Given the description of an element on the screen output the (x, y) to click on. 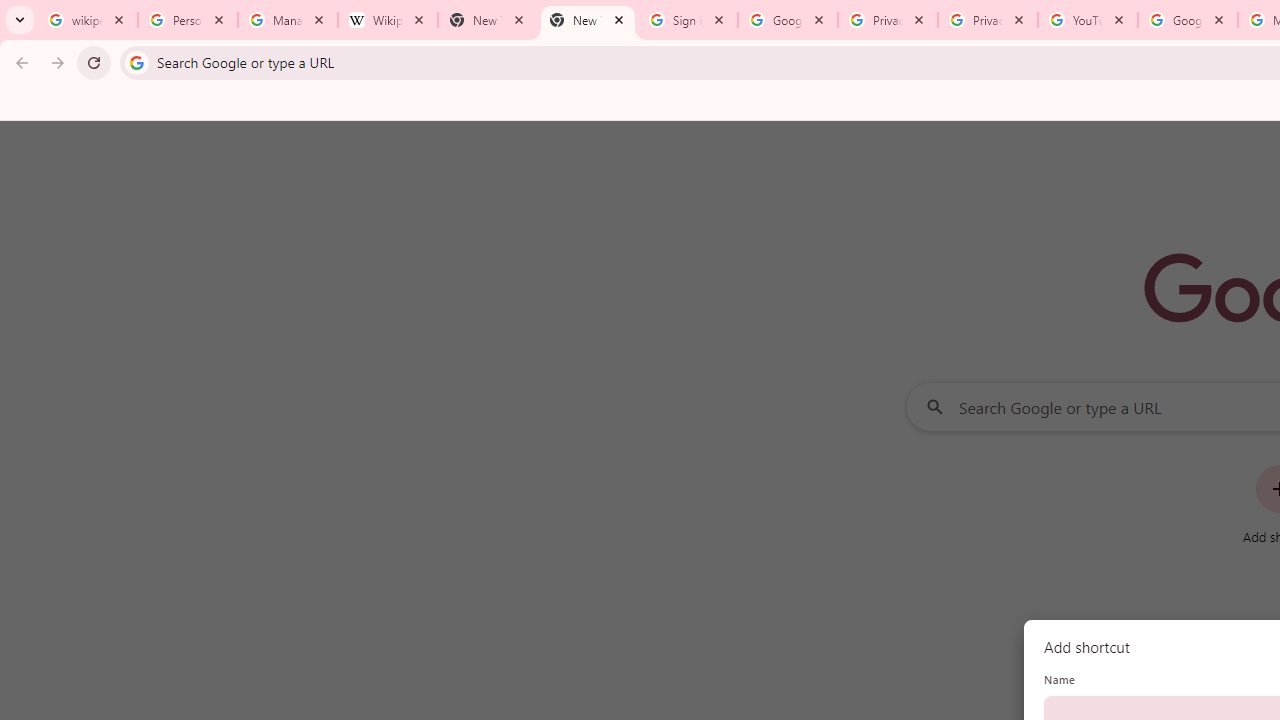
YouTube (1087, 20)
New Tab (487, 20)
Sign in - Google Accounts (687, 20)
Search icon (136, 62)
Personalization & Google Search results - Google Search Help (188, 20)
Google Account Help (1187, 20)
Google Drive: Sign-in (788, 20)
Wikipedia:Edit requests - Wikipedia (387, 20)
Manage your Location History - Google Search Help (287, 20)
